Given the description of an element on the screen output the (x, y) to click on. 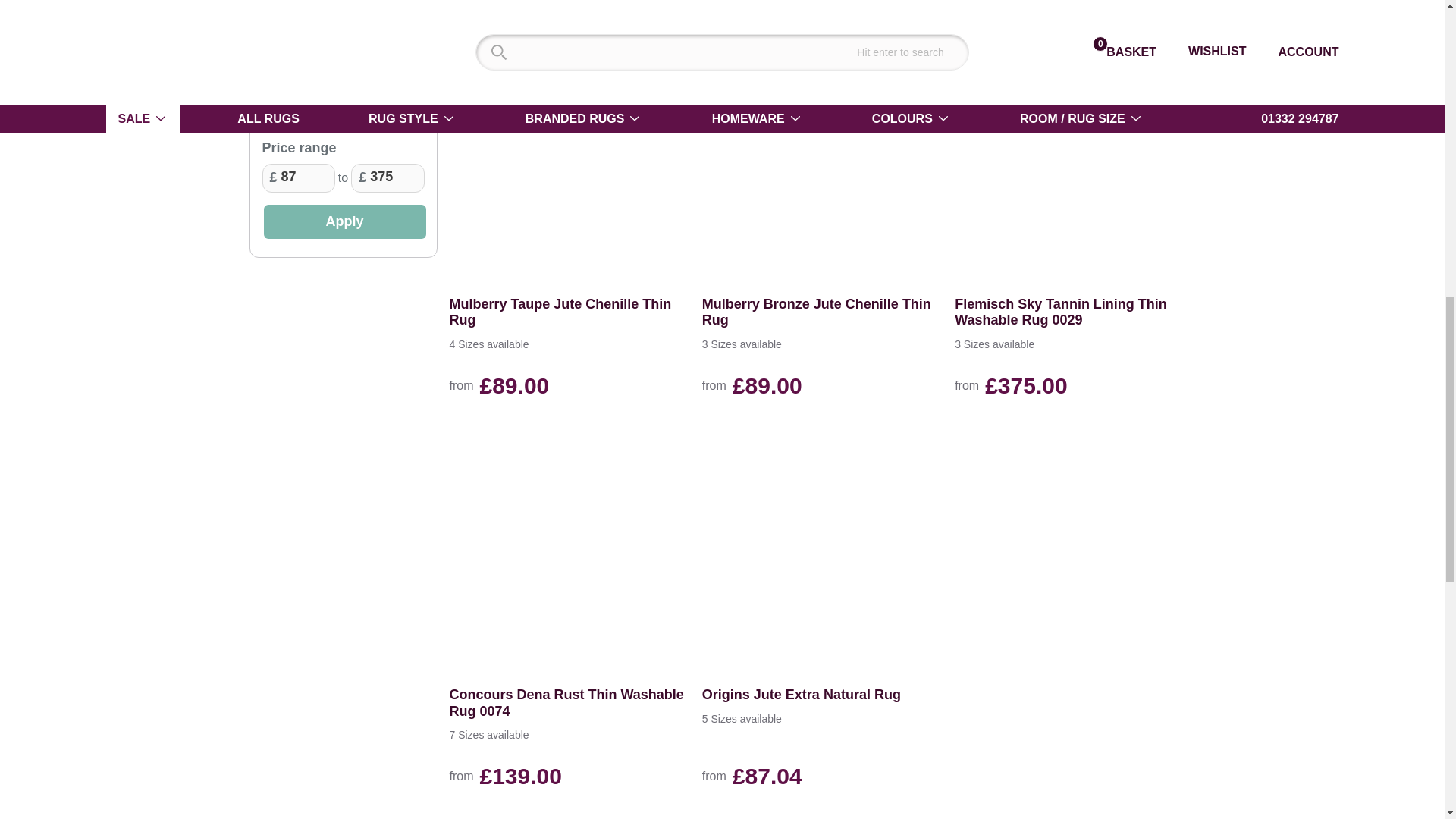
375 (386, 177)
87 (298, 177)
